Given the description of an element on the screen output the (x, y) to click on. 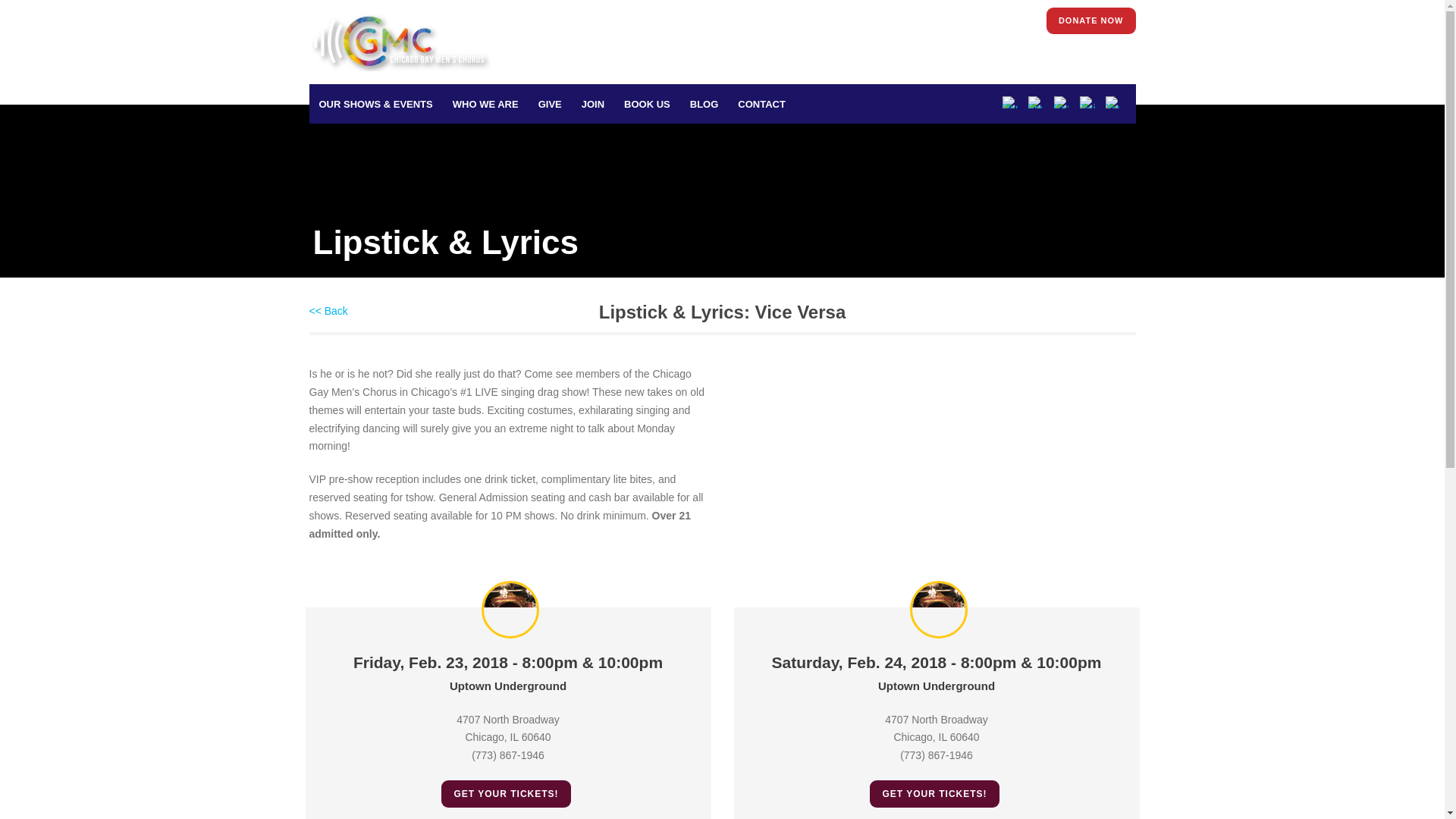
Contact Us (876, 19)
Get Tickets (949, 19)
DONATE NOW (1090, 20)
Login (1009, 19)
